Given the description of an element on the screen output the (x, y) to click on. 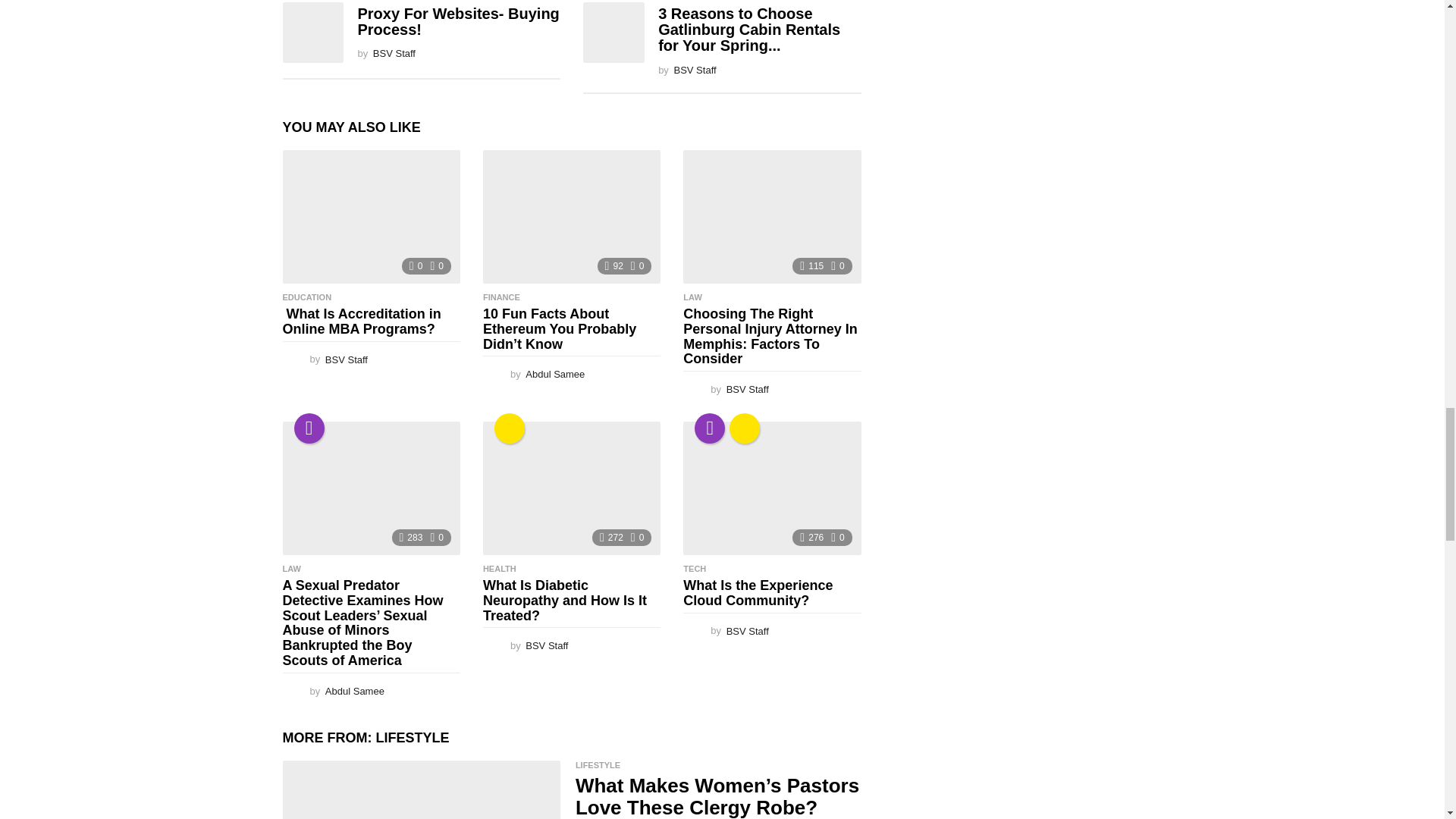
Trending (309, 428)
geeky (509, 428)
What Is the Experience Cloud Community? (771, 488)
Trending (709, 428)
fail (744, 428)
What Is Diabetic Neuropathy and How Is It Treated? (572, 488)
